Given the description of an element on the screen output the (x, y) to click on. 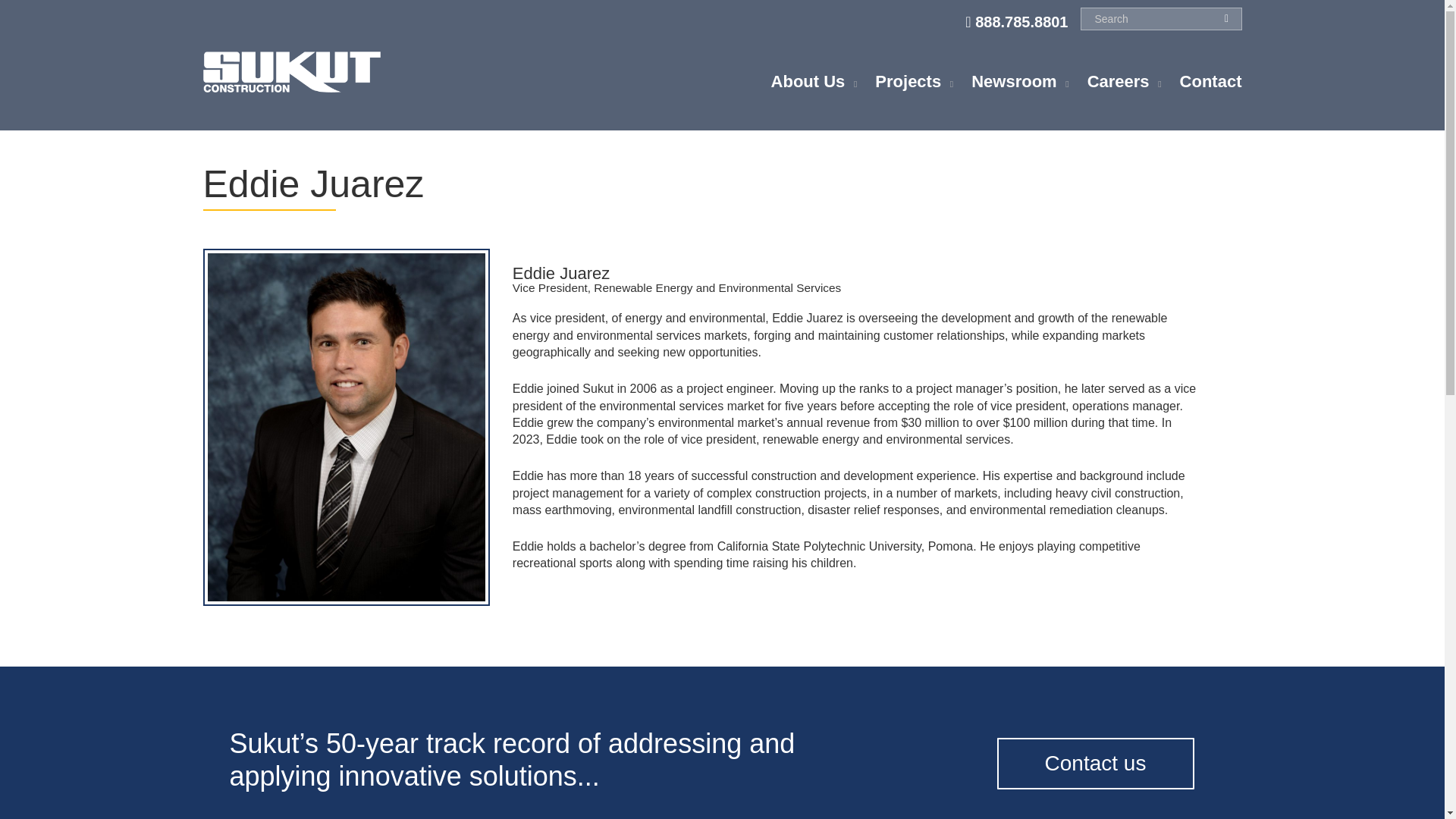
Careers (1118, 86)
Newsroom (1014, 86)
Contact (1210, 86)
Projects (907, 86)
888.785.8801 (1016, 21)
Sukut Construction, LLC (292, 70)
Contact us (1094, 763)
About Us (808, 86)
